Given the description of an element on the screen output the (x, y) to click on. 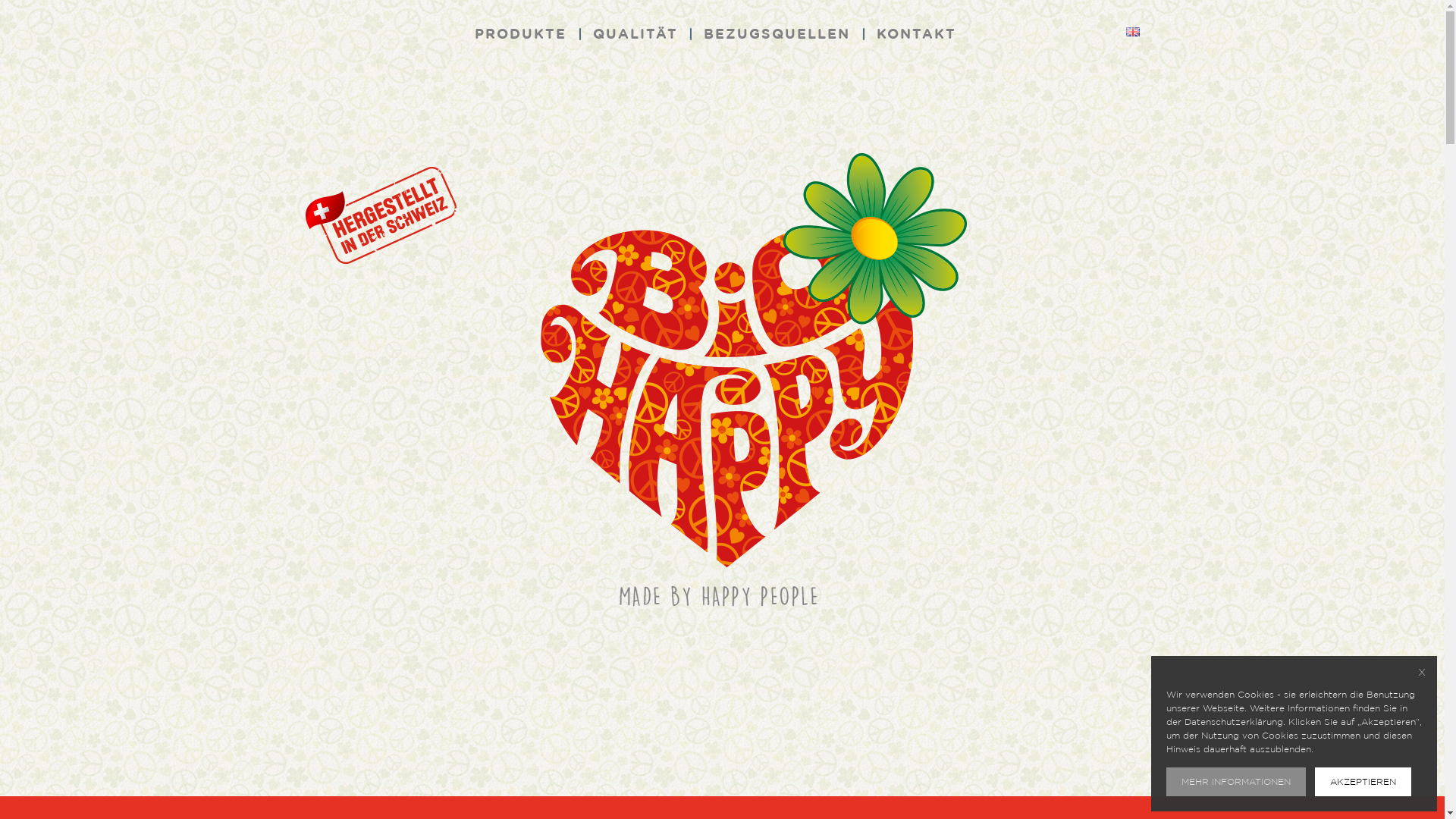
x Element type: text (1421, 671)
KONTAKT Element type: text (916, 34)
AKZEPTIEREN Element type: text (1362, 781)
BEZUGSQUELLEN Element type: text (776, 34)
MEHR INFORMATIONEN Element type: text (1235, 781)
PRODUKTE Element type: text (520, 34)
